Given the description of an element on the screen output the (x, y) to click on. 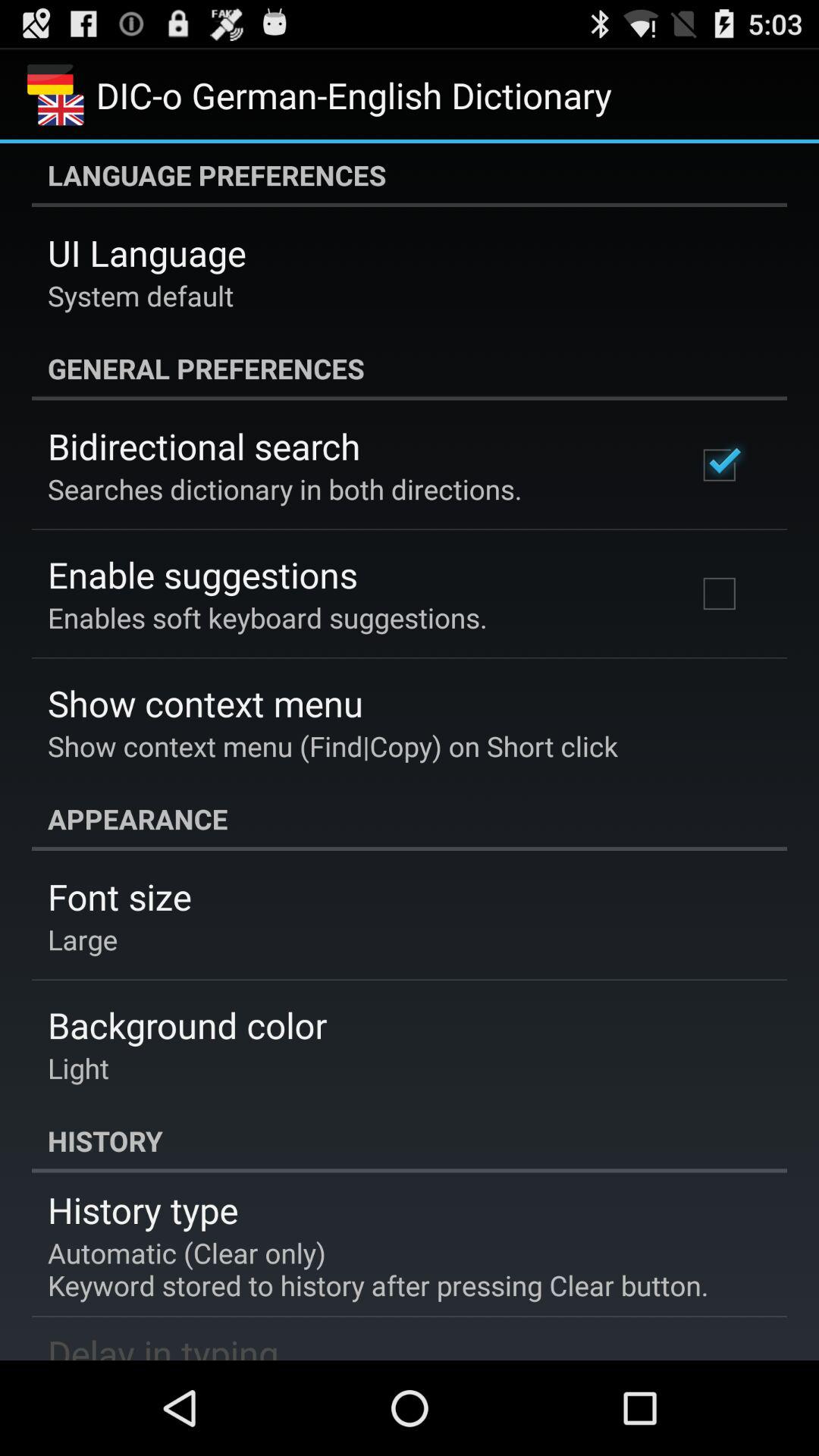
swipe to the appearance (409, 818)
